Given the description of an element on the screen output the (x, y) to click on. 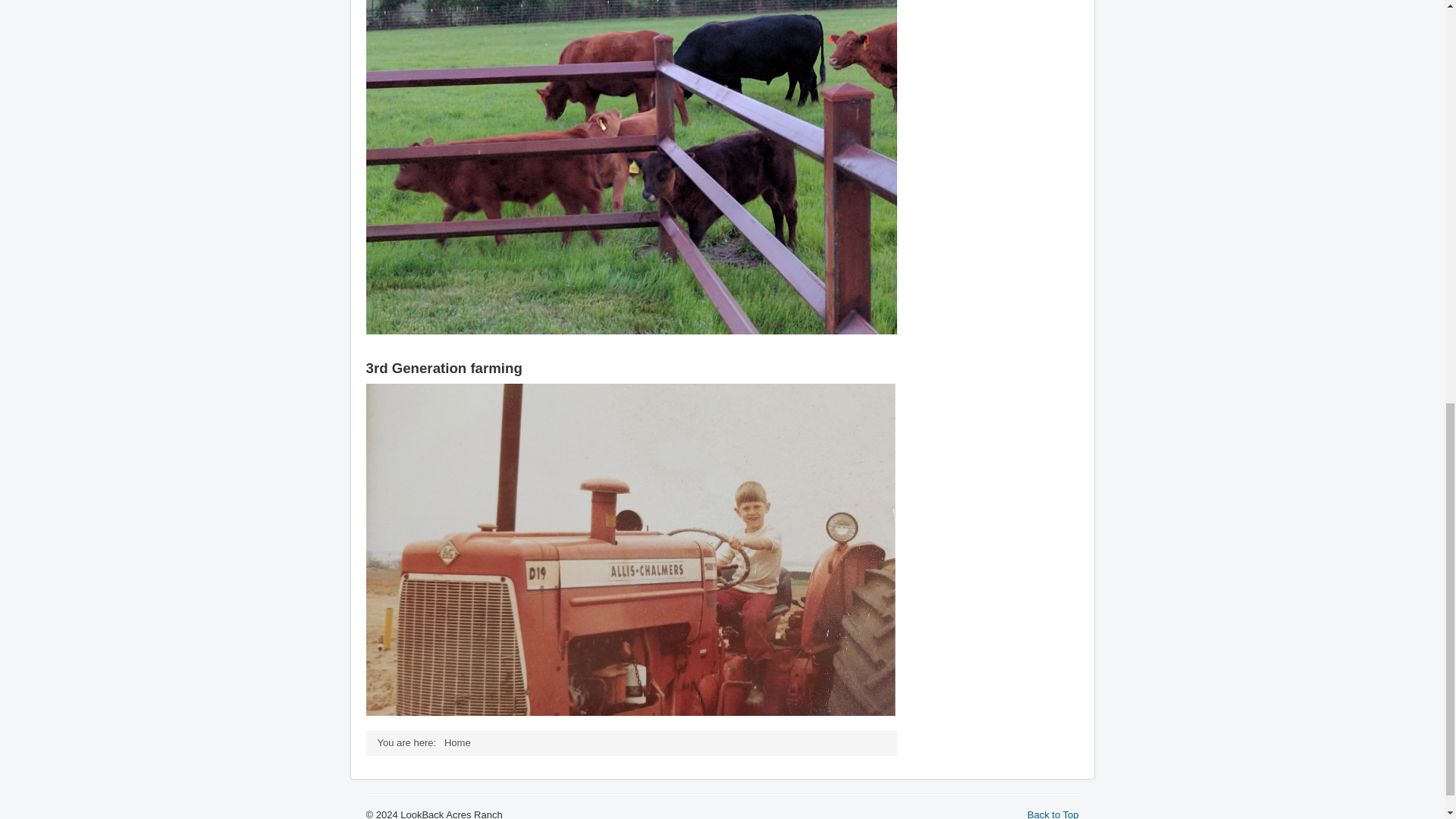
Back to Top (1052, 813)
